Given the description of an element on the screen output the (x, y) to click on. 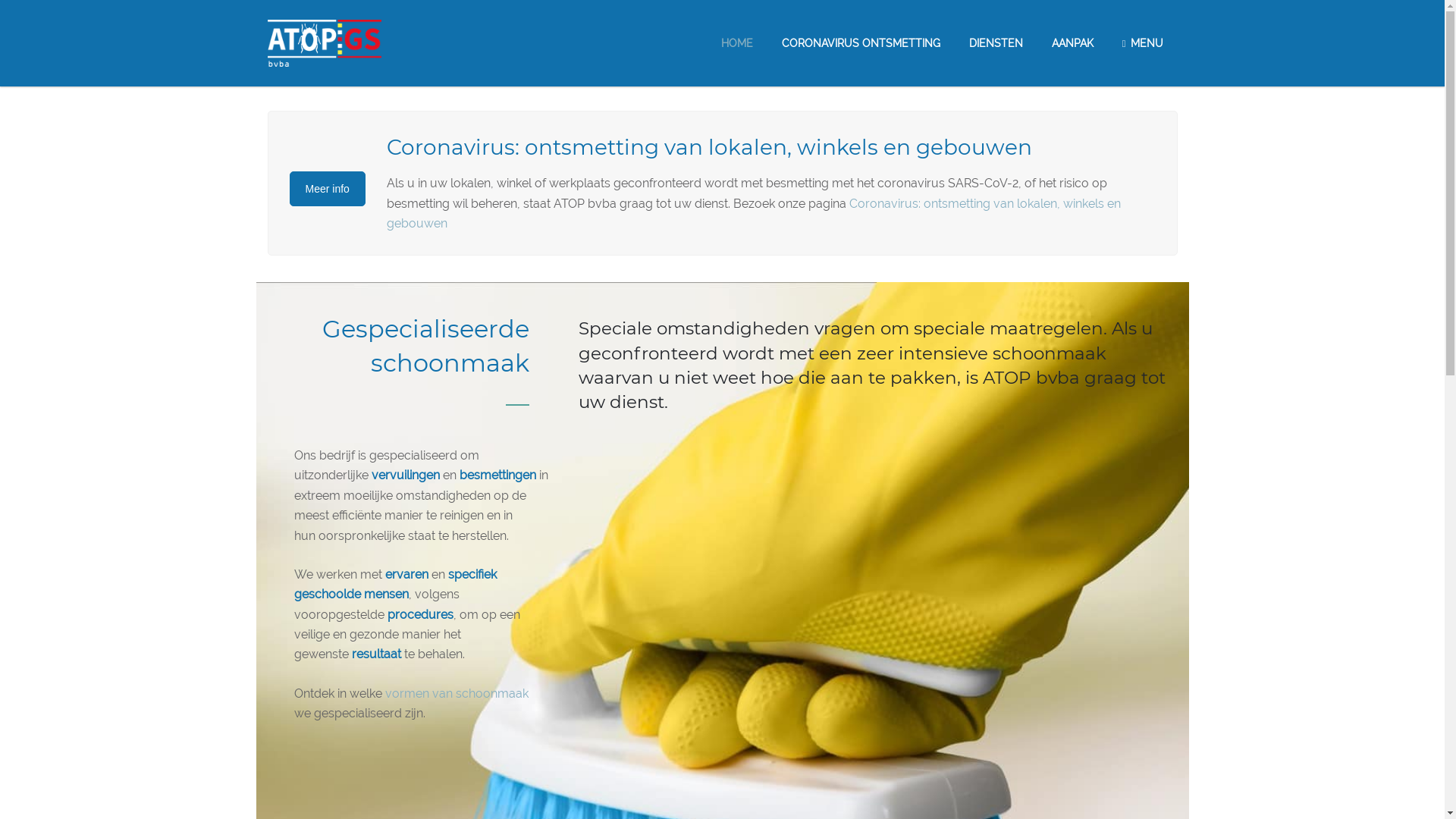
Search Element type: text (20, 8)
ATOP GS Element type: hover (323, 42)
CORONAVIRUS ONTSMETTING Element type: text (860, 43)
DIENSTEN Element type: text (995, 43)
HOME Element type: text (736, 43)
Meer info Element type: text (327, 188)
Coronavirus: ontsmetting van lokalen, winkels en gebouwen Element type: text (753, 213)
MENU Element type: text (1142, 43)
Gespecialiseerde schoonmaak Element type: text (424, 345)
AANPAK Element type: text (1072, 43)
vormen van schoonmaak Element type: text (456, 693)
